Given the description of an element on the screen output the (x, y) to click on. 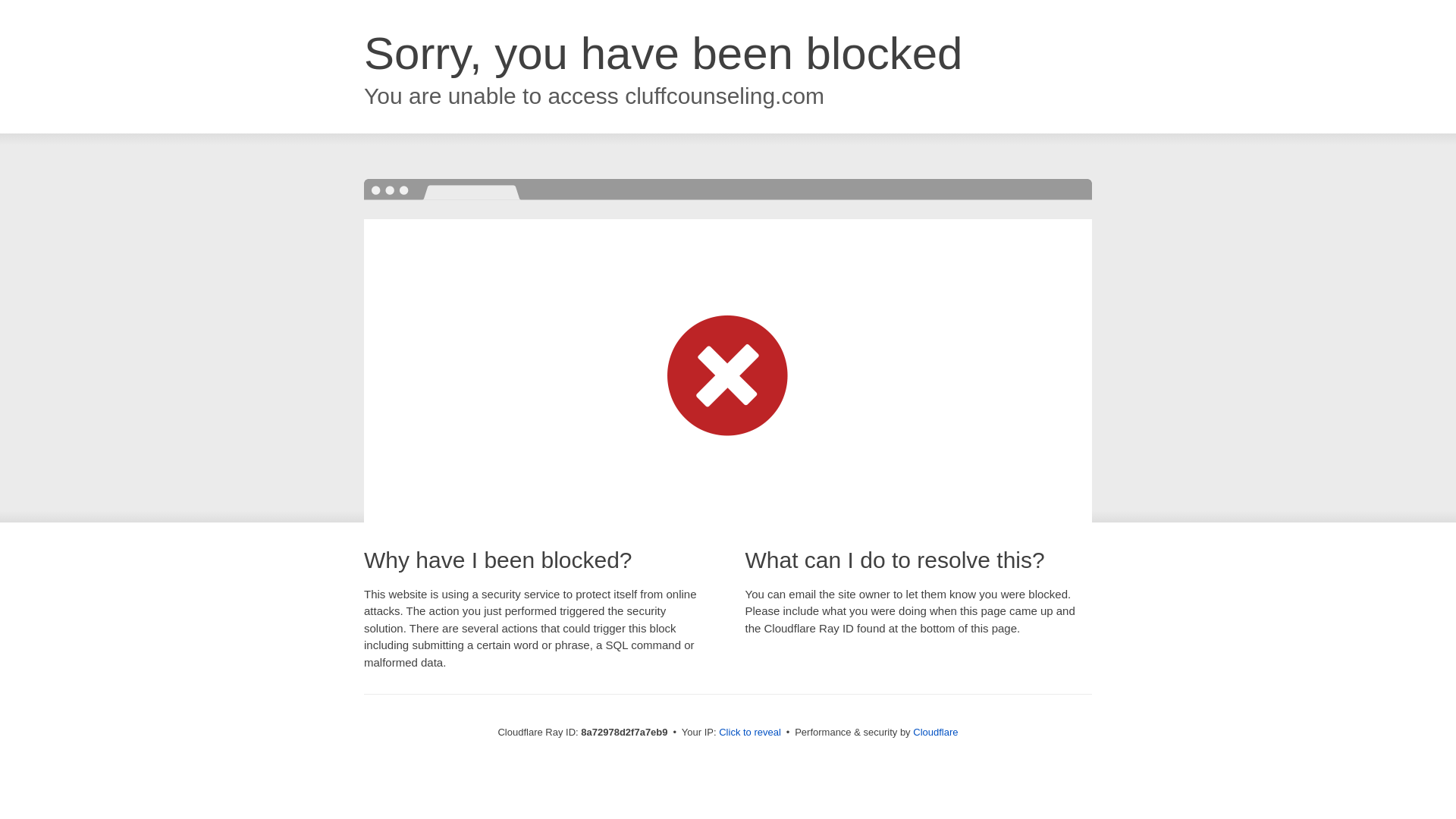
Click to reveal (749, 732)
Cloudflare (935, 731)
